Given the description of an element on the screen output the (x, y) to click on. 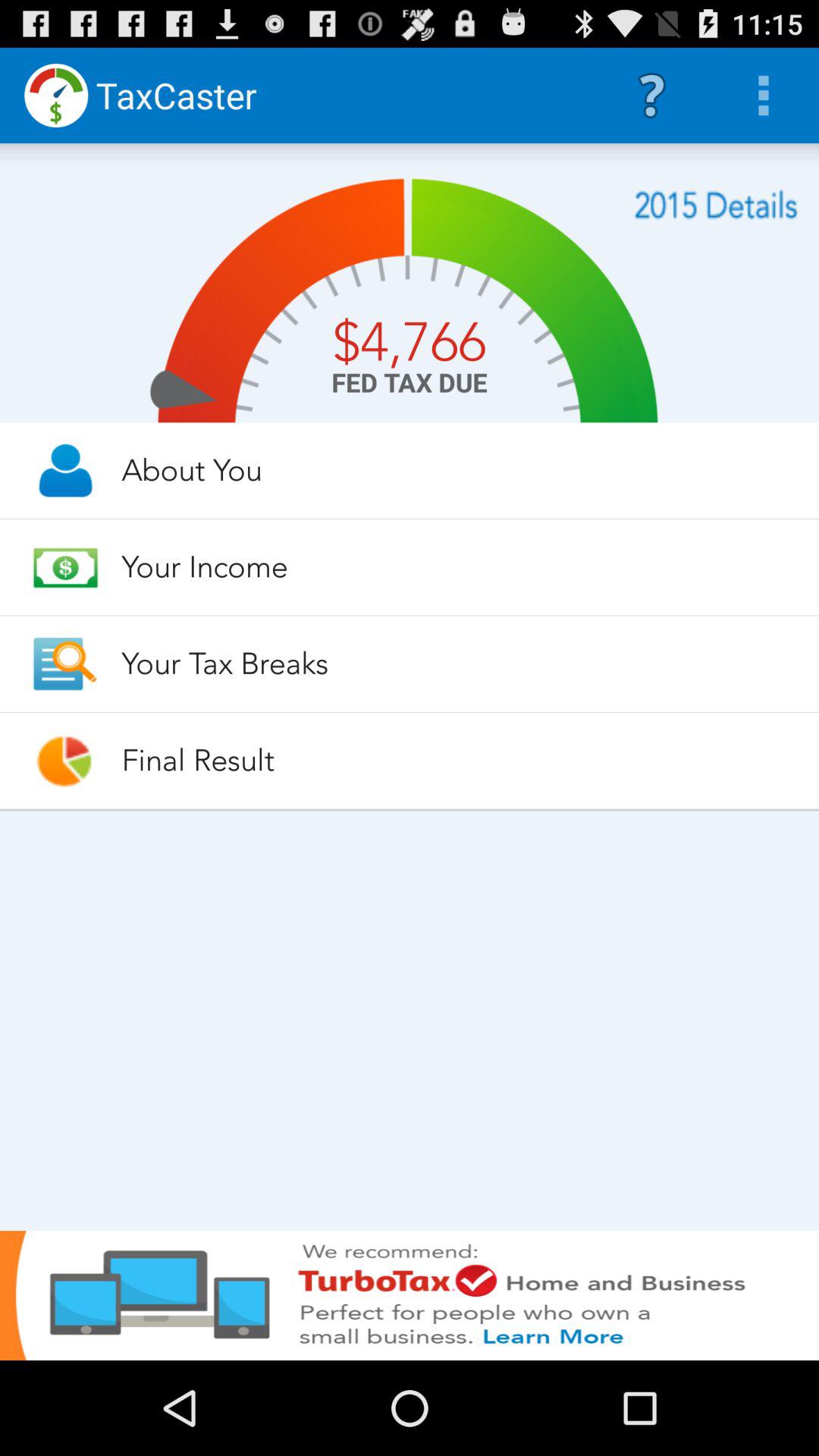
turn on the app below your tax breaks (456, 760)
